Given the description of an element on the screen output the (x, y) to click on. 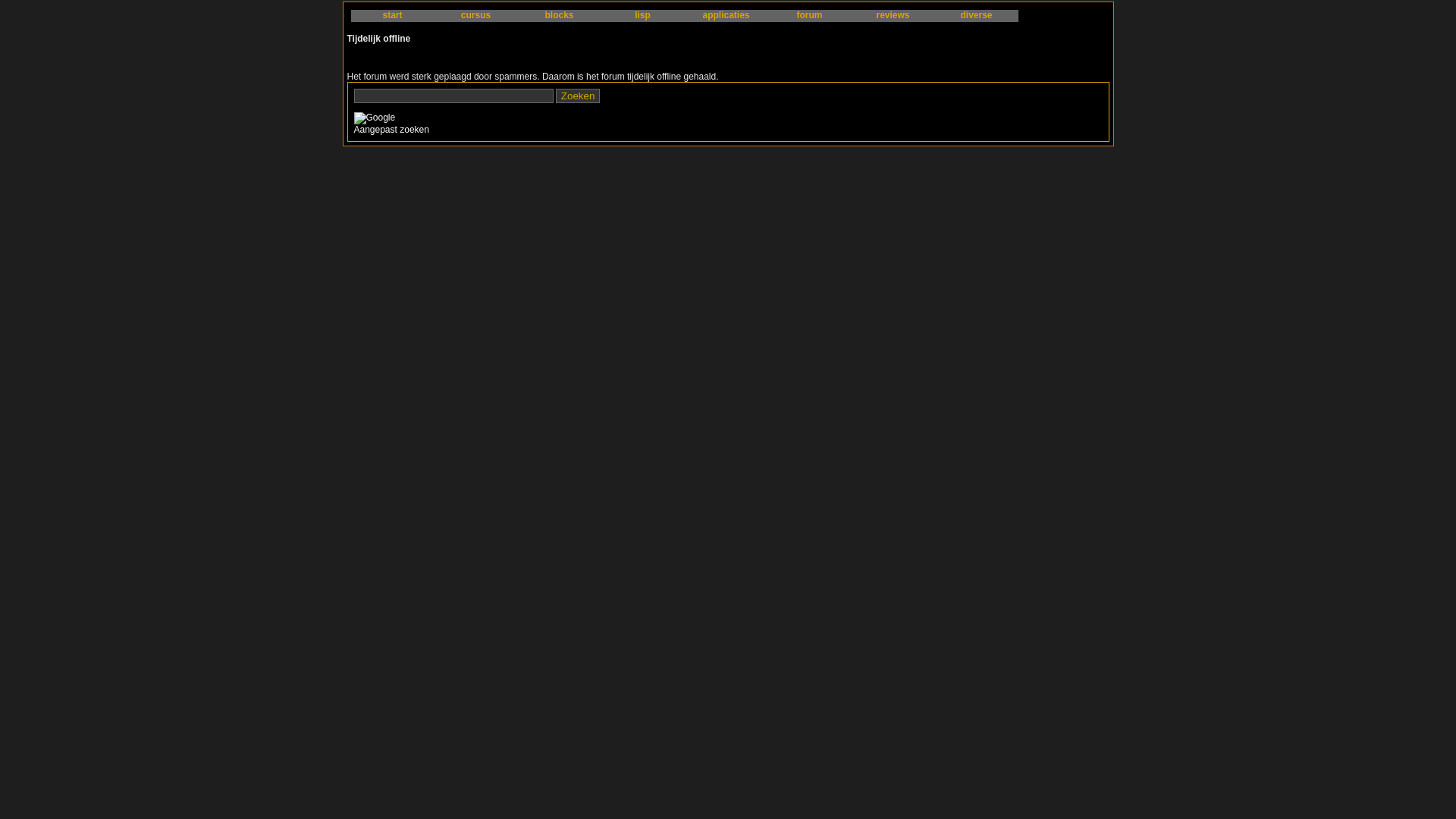
start Element type: text (391, 15)
Advertisement Element type: hover (779, 111)
reviews Element type: text (892, 15)
forum Element type: text (808, 15)
blocks Element type: text (558, 15)
diverse Element type: text (975, 15)
lisp Element type: text (642, 15)
applicaties Element type: text (725, 15)
cursus Element type: text (475, 15)
Zoeken Element type: text (577, 95)
